Given the description of an element on the screen output the (x, y) to click on. 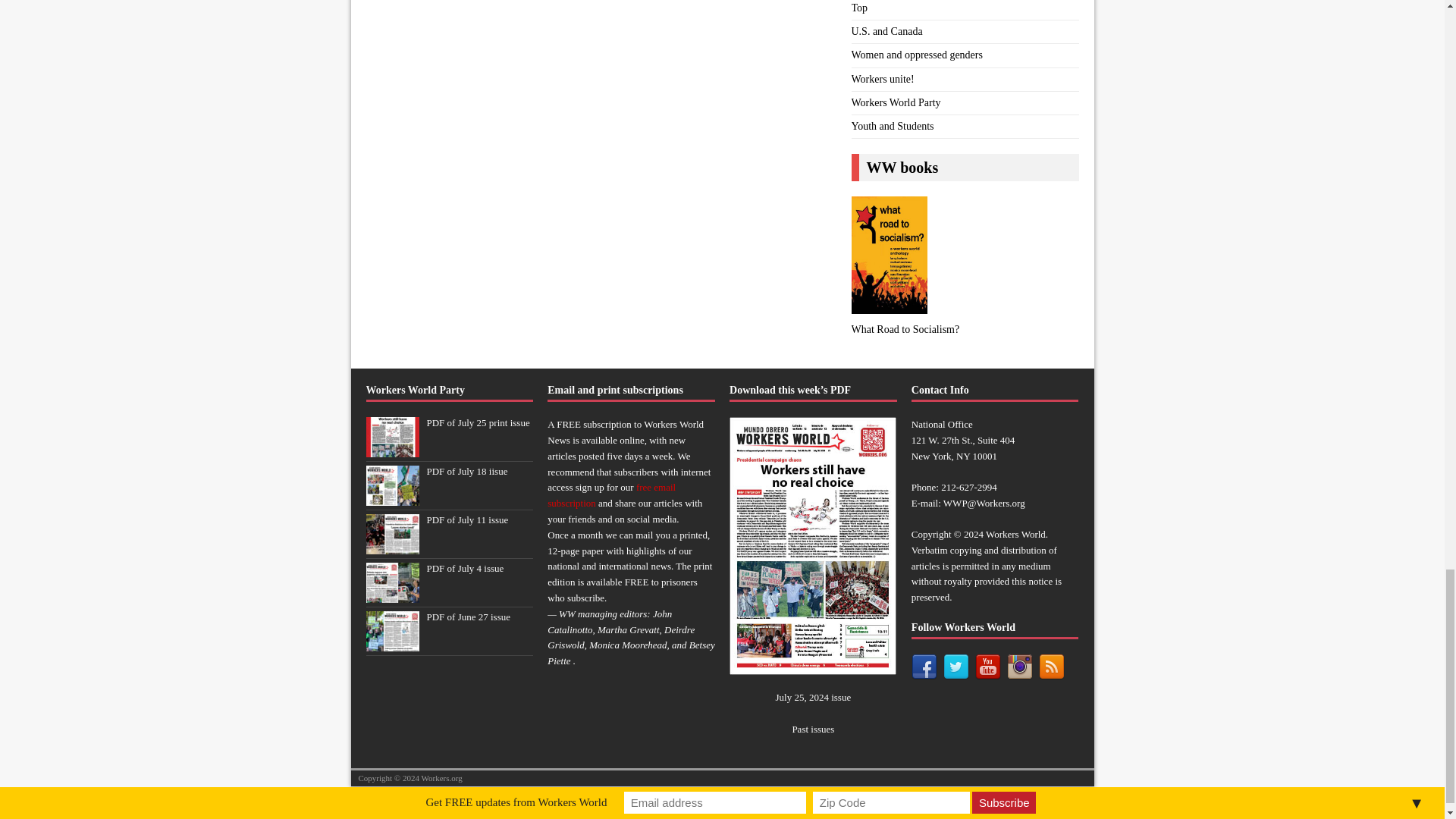
PDF of July 25 print issue (392, 448)
PDF of July 18 iisue (392, 496)
PDF of July 4 issue (464, 568)
PDF of July 11 issue (392, 545)
PDF of July 4 issue (392, 593)
PDF of June 27 issue (392, 642)
PDF of June 27 issue (468, 616)
PDF of July 25 print issue (477, 422)
PDF of July 18 iisue (466, 471)
PDF of July 11 issue (467, 519)
